Given the description of an element on the screen output the (x, y) to click on. 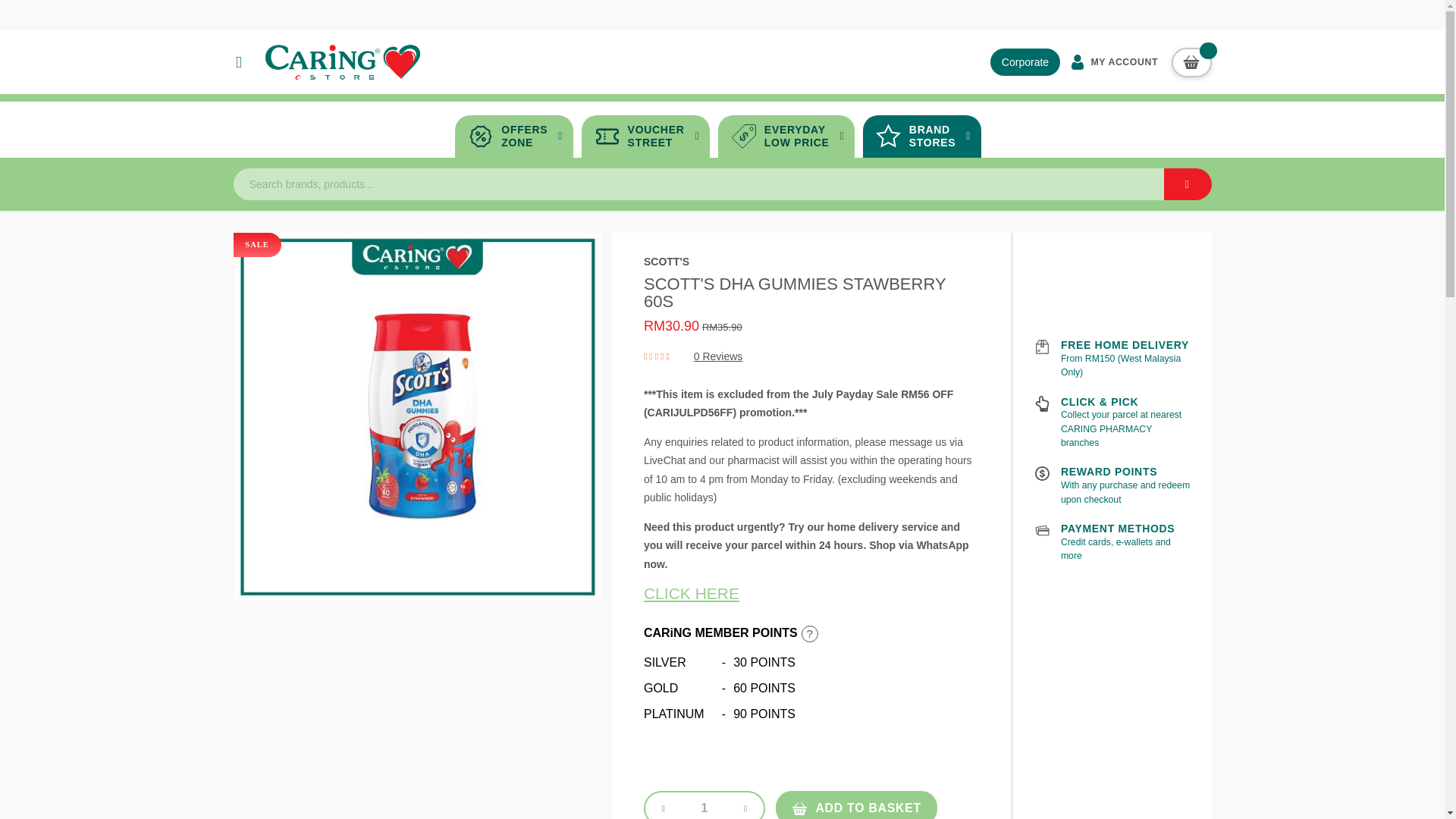
Search (645, 136)
MY CART (1187, 183)
Corporate (1190, 61)
MY ACCOUNT (1024, 62)
Add to Basket (1112, 61)
Qty (922, 136)
1 (856, 805)
